Given the description of an element on the screen output the (x, y) to click on. 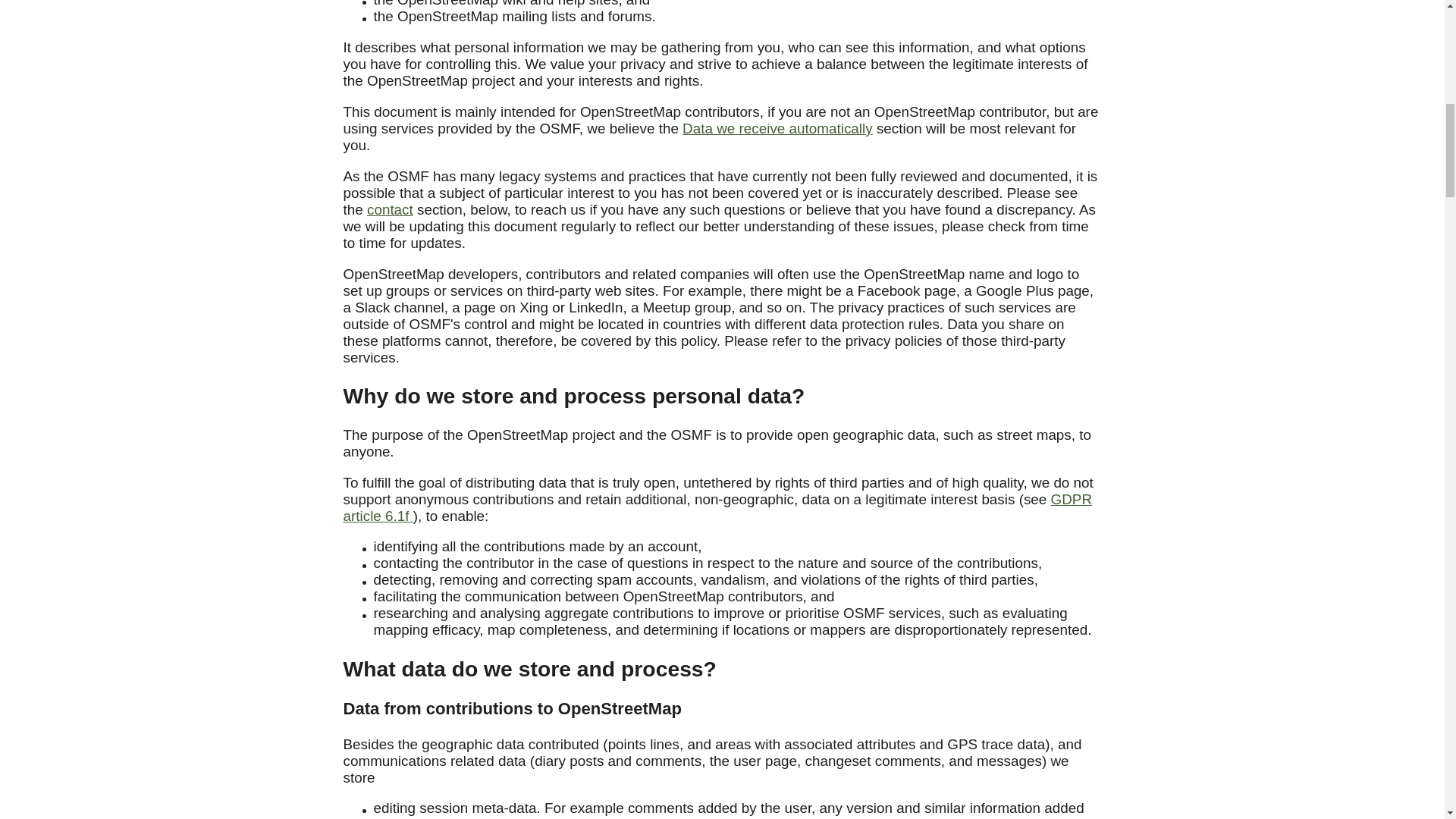
GDPR article 6.1f (717, 507)
contact (389, 209)
Data we receive automatically (777, 128)
